Given the description of an element on the screen output the (x, y) to click on. 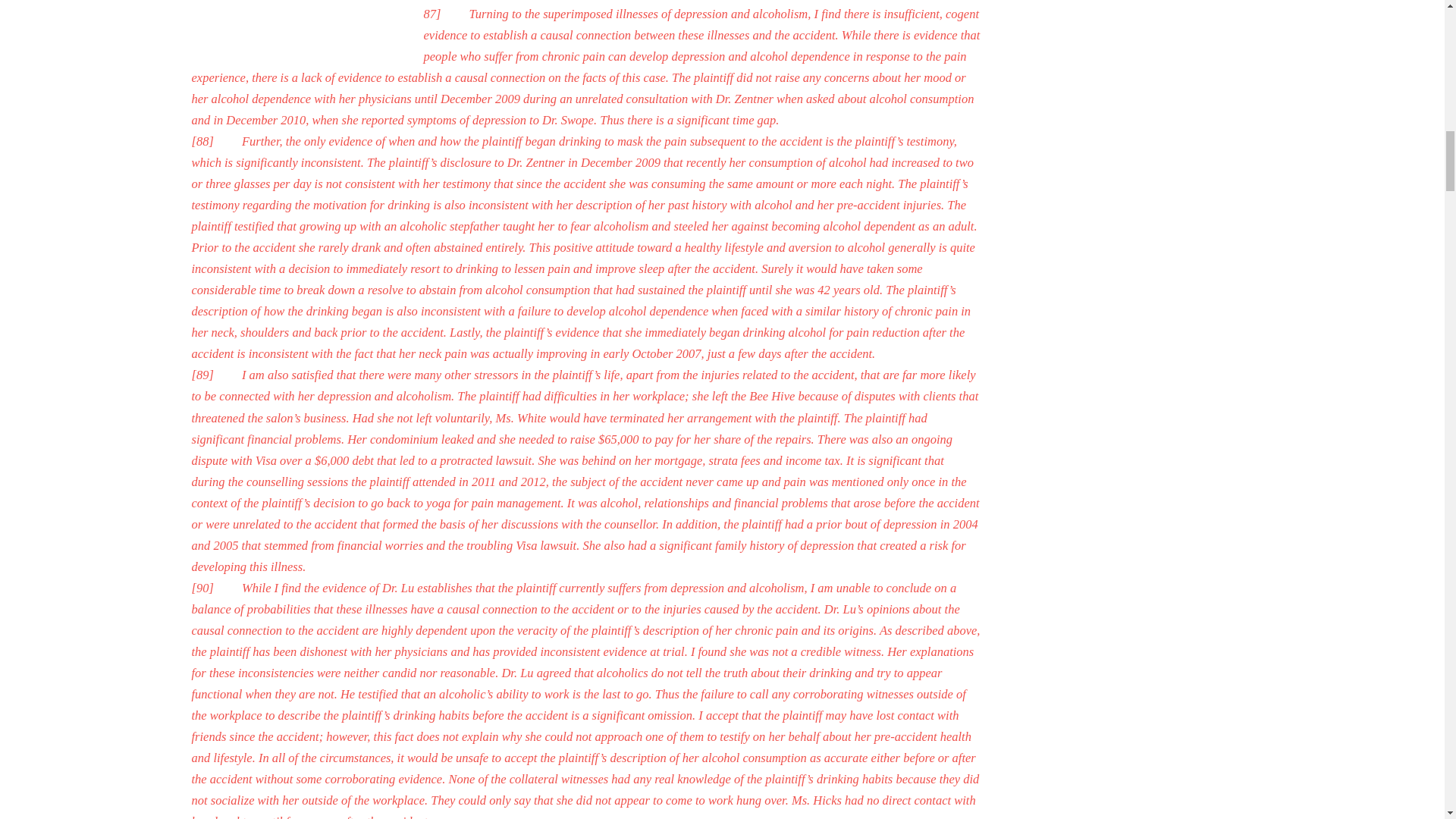
BC Injury law post collision alcoholism (291, 30)
